Given the description of an element on the screen output the (x, y) to click on. 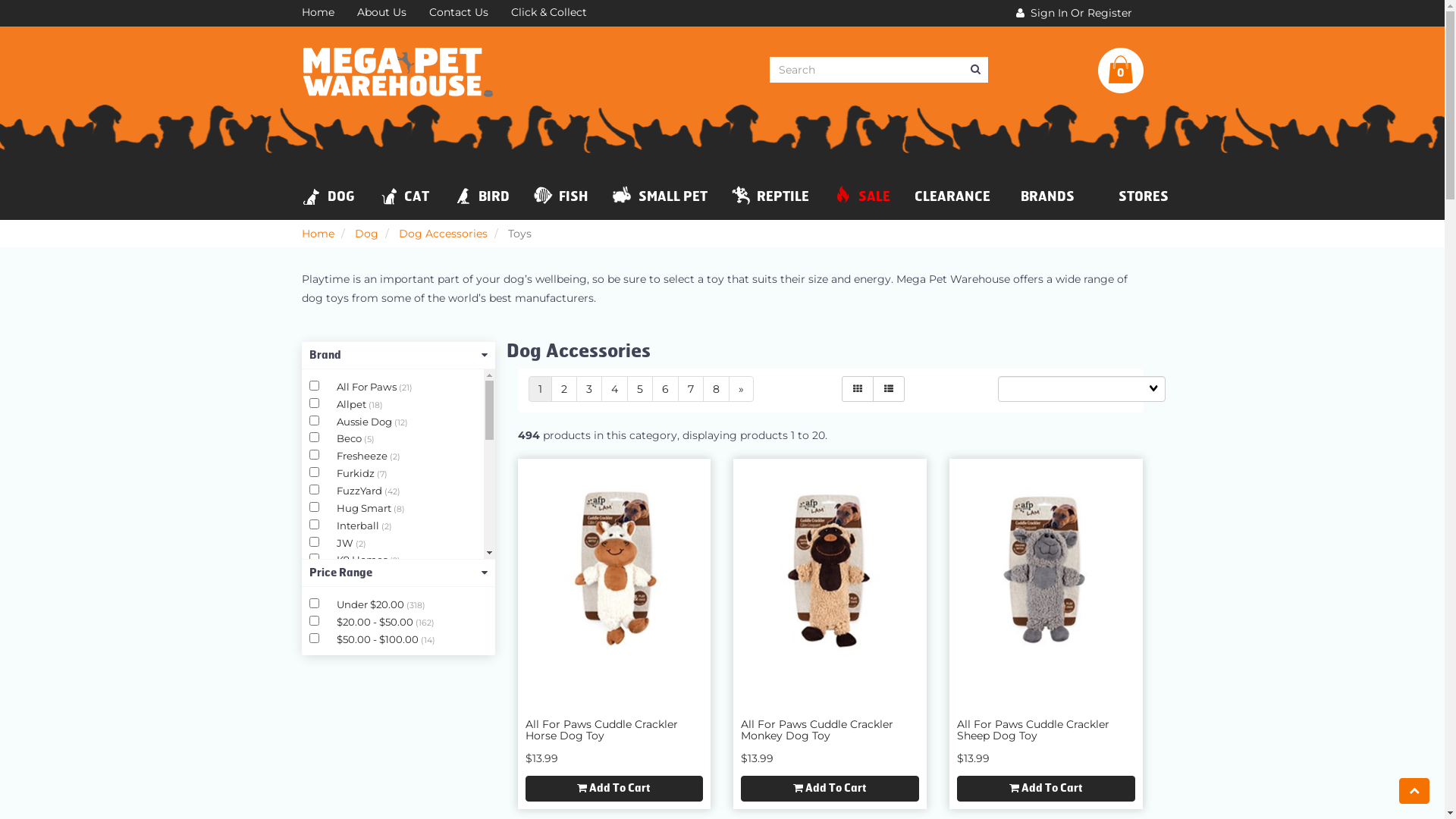
3 Element type: text (589, 388)
All For Paws Cuddle Crackler Monkey Dog Toy Element type: text (816, 729)
5 Element type: text (639, 388)
SMALL PET Element type: text (658, 196)
  Sign In Or Register Element type: text (1073, 13)
All For Paws Cuddle Crackler Horse Dog Toy Element type: text (600, 729)
Beco Element type: text (350, 438)
Click & Collect Element type: text (547, 13)
Dog Accessories Element type: text (442, 233)
8 Element type: text (715, 388)
CAT Element type: text (404, 196)
Furkidz Element type: text (356, 473)
Paws & Claws Element type: text (371, 680)
Interball Element type: text (358, 525)
All For Paws Cuddle Crackler Sheep Dog Toy Element type: hover (1045, 572)
6 Element type: text (665, 388)
Rogz Element type: text (350, 733)
JW Element type: text (345, 542)
Scream Element type: text (356, 768)
Fresheeze Element type: text (362, 455)
Kong Element type: text (350, 594)
2 Element type: text (563, 388)
Home Element type: text (317, 233)
BIRD Element type: text (481, 196)
SALE Element type: text (860, 196)
DOG Element type: text (327, 196)
Starmark Element type: text (360, 803)
7 Element type: text (690, 388)
Under $20.00 Element type: text (371, 604)
About Us Element type: text (381, 13)
Add To Cart Element type: text (613, 788)
Hug Smart Element type: text (364, 508)
All For Paws Cuddle Crackler Monkey Dog Toy Element type: hover (829, 572)
Puppy Love Element type: text (366, 715)
All For Paws Cuddle Crackler Sheep Dog Toy Element type: text (1033, 729)
La Doggie Vita Element type: text (374, 611)
Nerf Element type: text (348, 646)
FISH Element type: text (560, 196)
K9 Homes Element type: text (362, 559)
Spunky Pup Element type: text (367, 785)
Add To Cart Element type: text (829, 788)
REPTILE Element type: text (769, 196)
Ruff Play Element type: text (359, 750)
Dog Element type: text (366, 233)
Multi Pet Element type: text (360, 629)
4 Element type: text (613, 388)
Kazoo Element type: text (352, 577)
Allpet Element type: text (352, 404)
Prestige Pet Element type: text (367, 698)
Aussie Dog Element type: text (365, 421)
Home Element type: text (317, 13)
0 Element type: text (1120, 70)
1 Element type: text (539, 388)
FuzzYard Element type: text (360, 490)
All For Paws Cuddle Crackler Horse Dog Toy Element type: hover (613, 572)
Outward Hound Element type: text (378, 664)
CLEARANCE Element type: text (952, 195)
$20.00 - $50.00 Element type: text (375, 621)
Add To Cart Element type: text (1046, 788)
All For Paws Element type: text (367, 386)
BRANDS Element type: text (1044, 196)
Contact Us Element type: text (457, 13)
$50.00 - $100.00 Element type: text (378, 639)
